Given the description of an element on the screen output the (x, y) to click on. 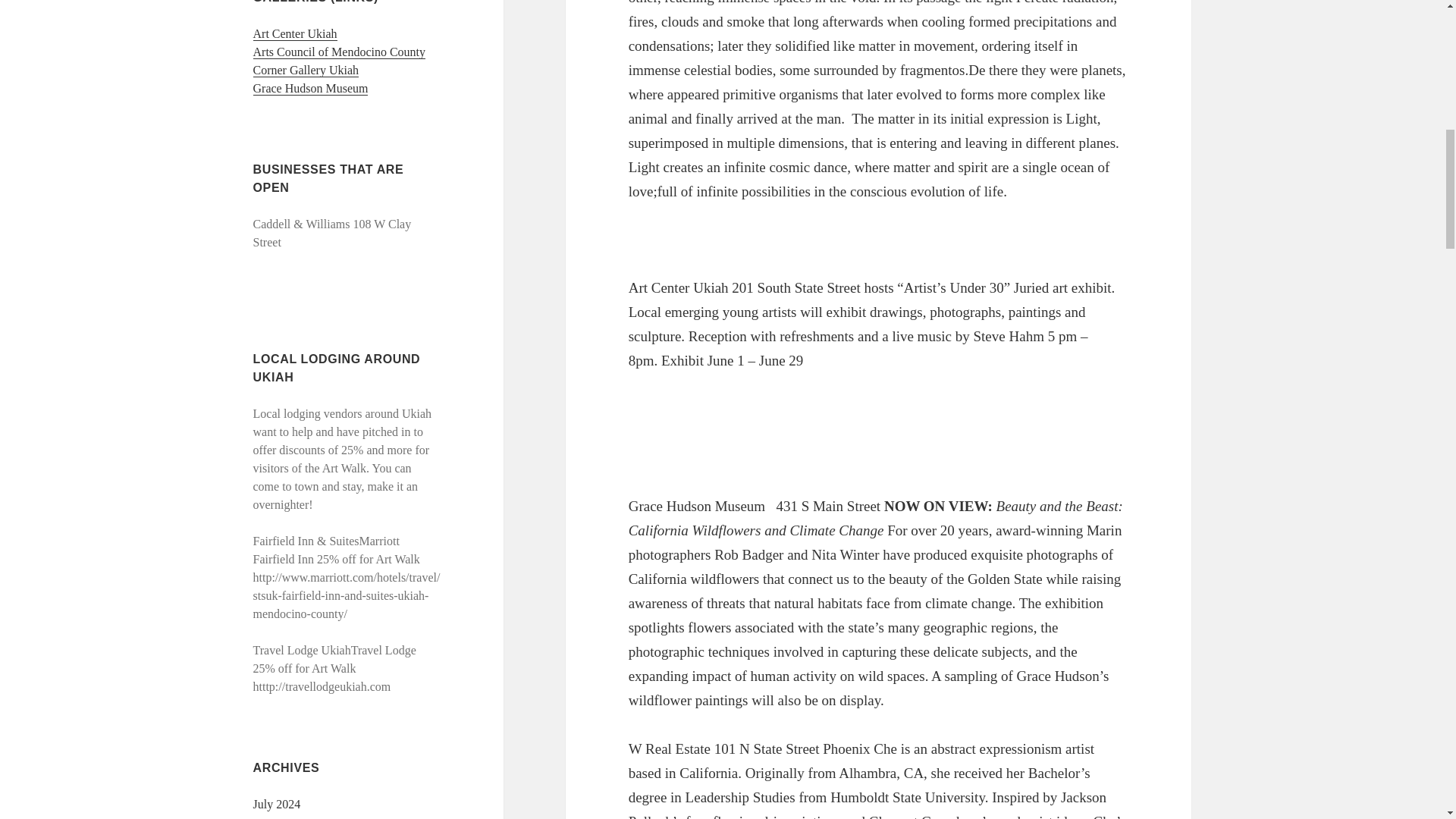
Grace Hudson Museum (310, 88)
Art Center Ukiah (295, 33)
July 2024 (277, 803)
Corner Gallery Ukiah (306, 69)
Arts Council of Mendocino County (339, 51)
